Given the description of an element on the screen output the (x, y) to click on. 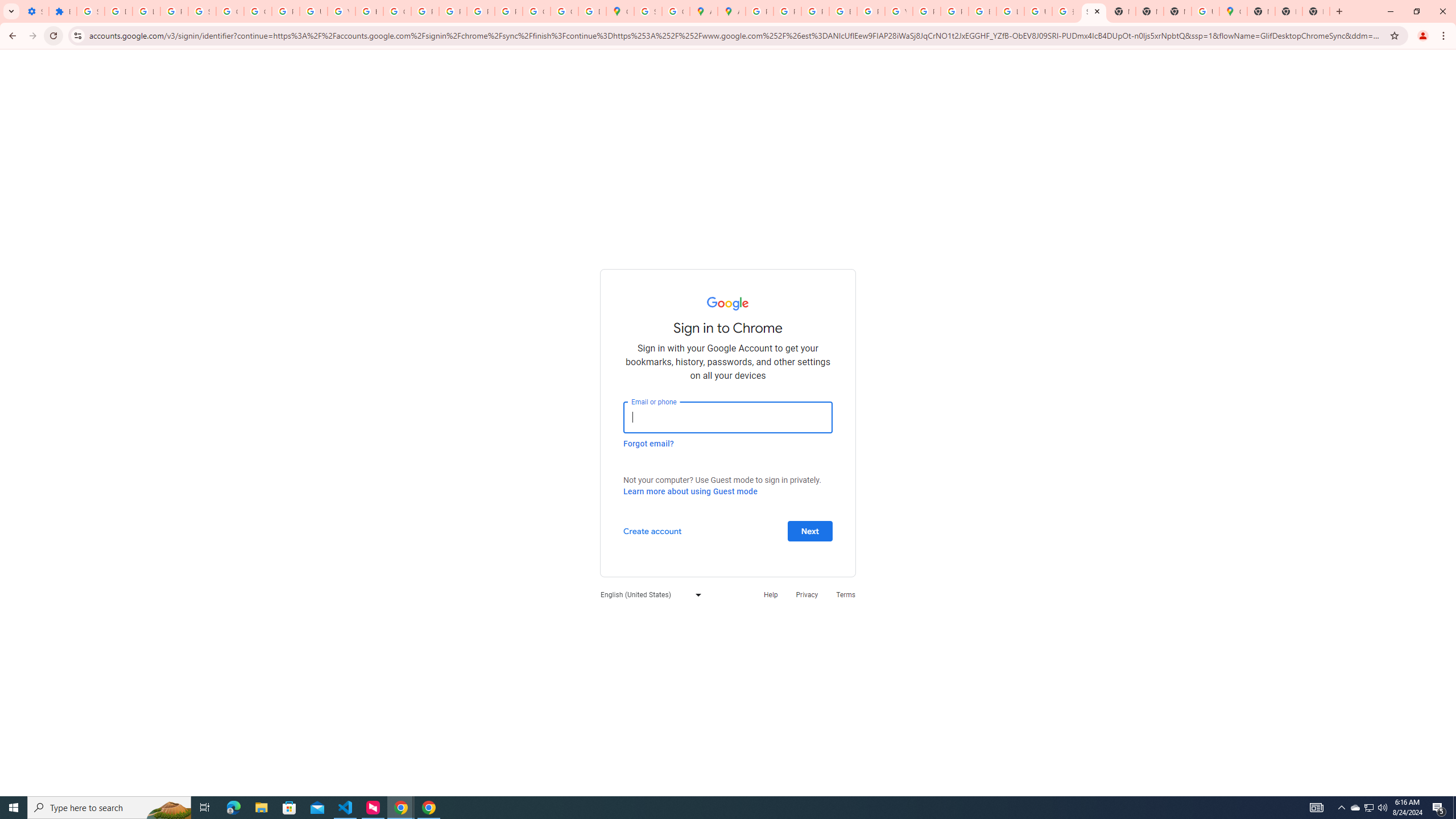
Email or phone (727, 417)
Privacy Help Center - Policies Help (815, 11)
Sign in - Google Accounts (647, 11)
Privacy Help Center - Policies Help (787, 11)
New Tab (1316, 11)
New Tab (1260, 11)
